Given the description of an element on the screen output the (x, y) to click on. 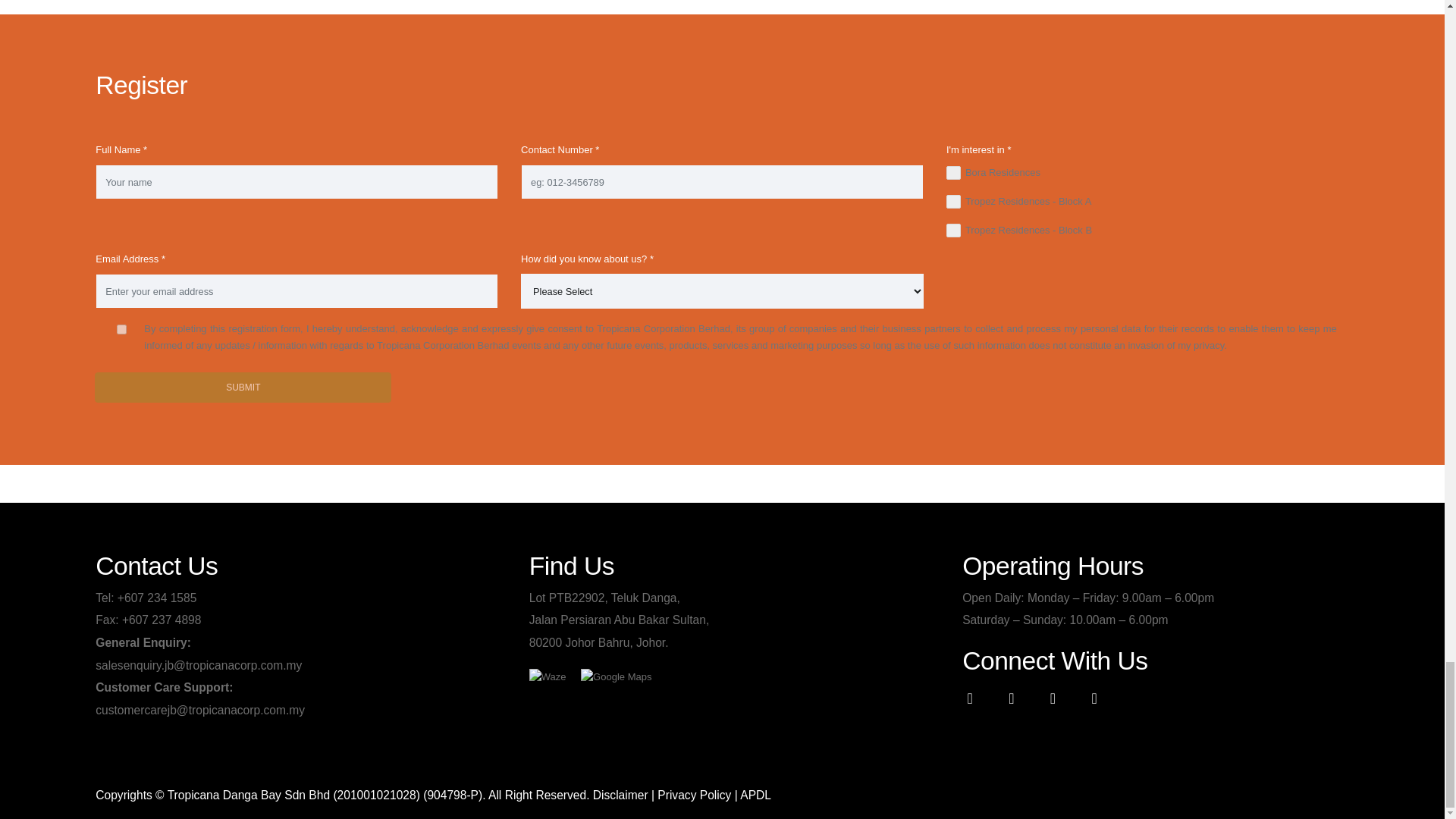
SUBMIT (242, 387)
WhatsApp (1093, 698)
on (121, 329)
Youtube (1010, 698)
Instagram (1051, 698)
Facebook (970, 698)
